Given the description of an element on the screen output the (x, y) to click on. 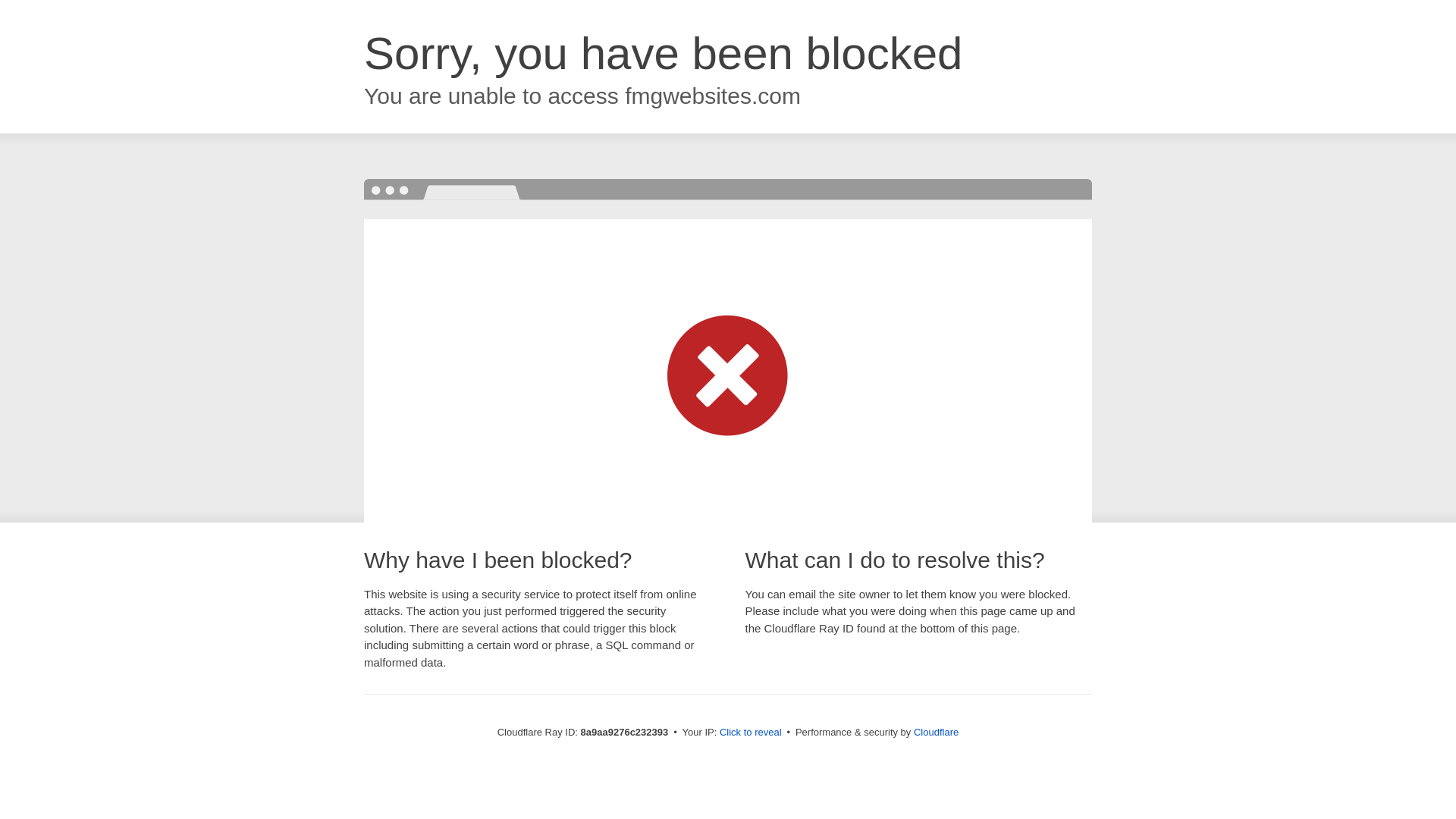
Click to reveal (750, 732)
Cloudflare (936, 731)
